Given the description of an element on the screen output the (x, y) to click on. 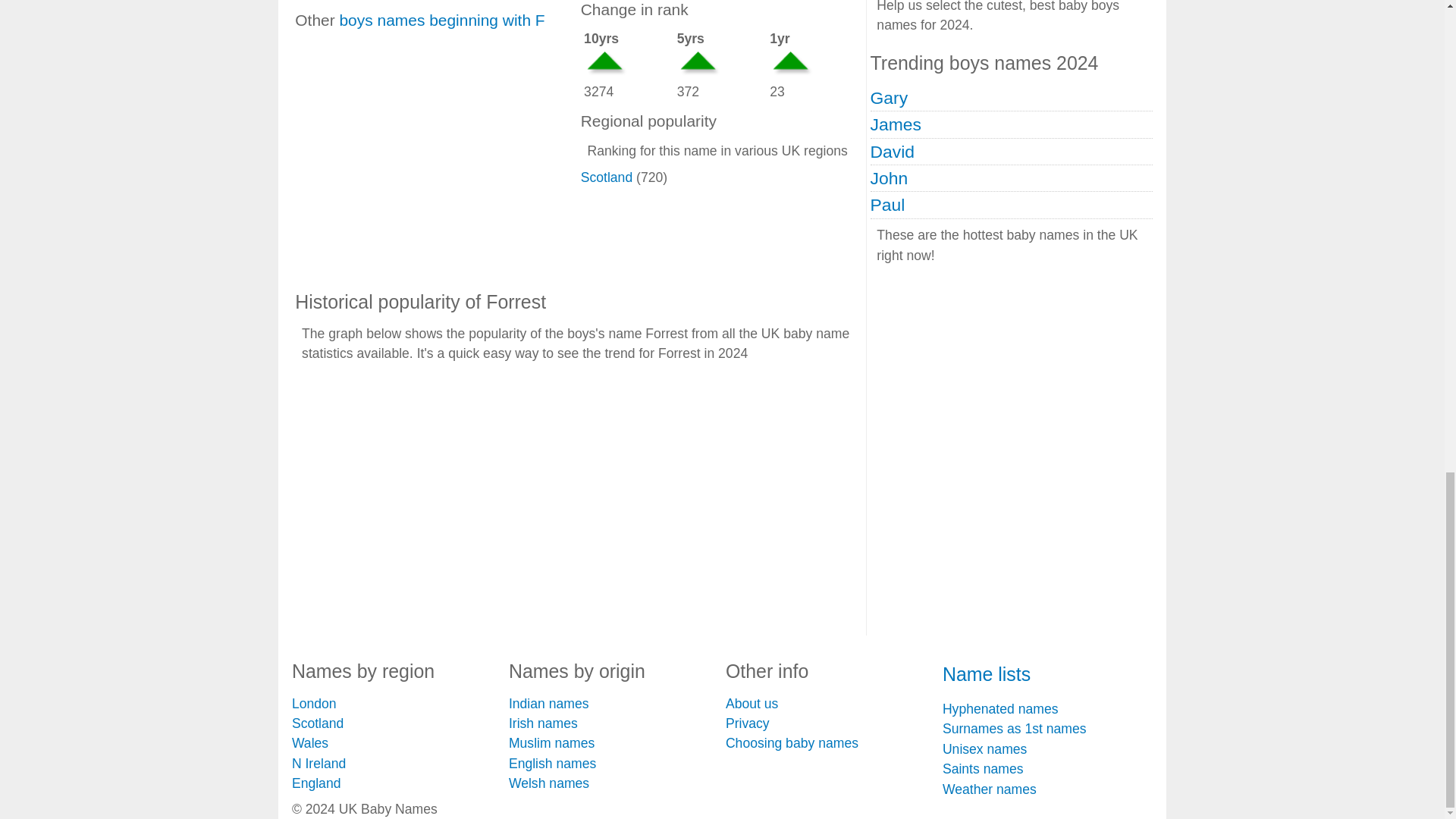
Wales (310, 743)
N Ireland (319, 763)
boys names beginning with F (441, 19)
London (314, 703)
England (316, 783)
Scotland (605, 177)
Paul (887, 204)
Gary (889, 97)
John (889, 178)
James (895, 124)
